Given the description of an element on the screen output the (x, y) to click on. 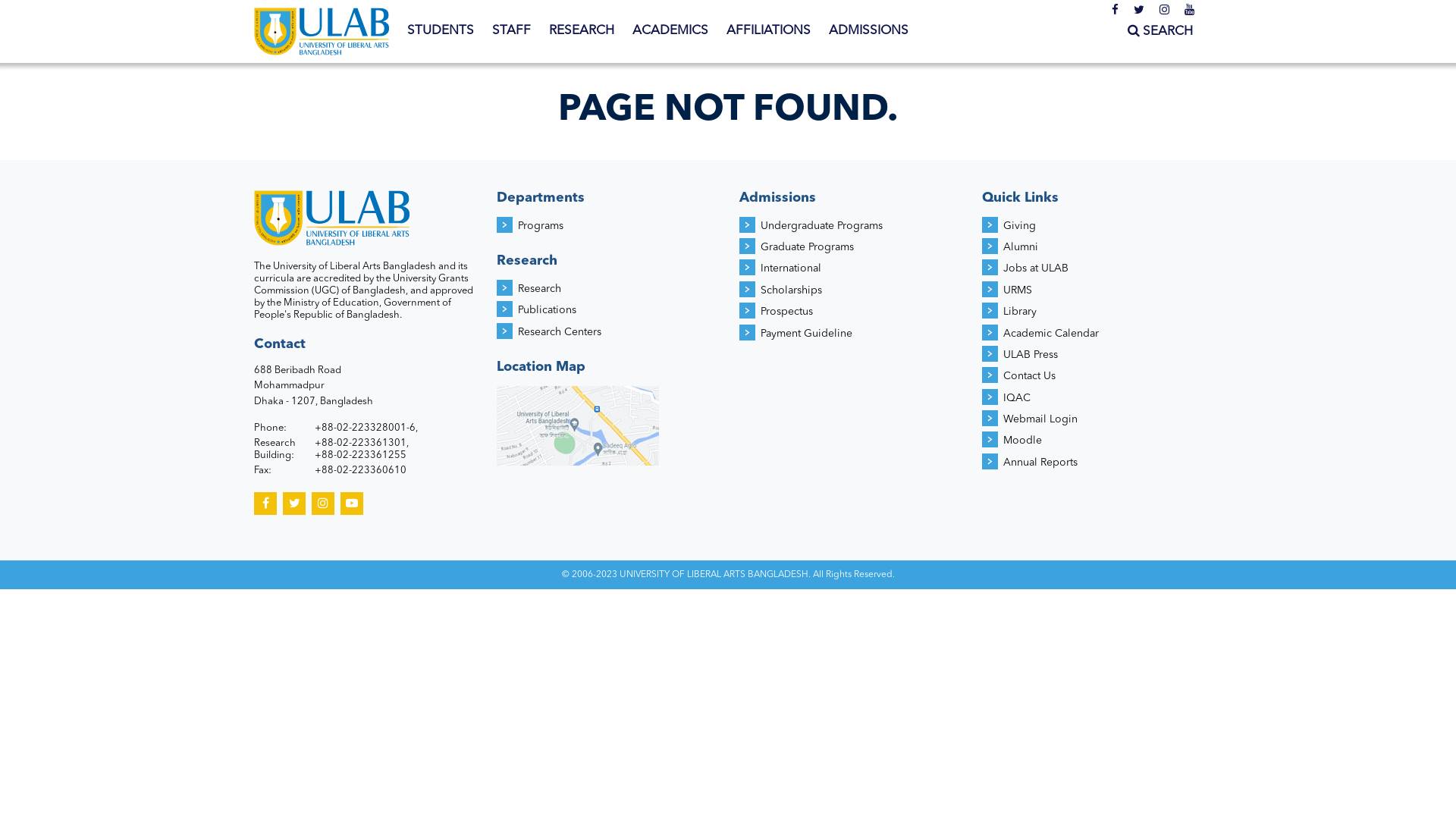
RESEARCH Element type: text (581, 30)
ULAB Press Element type: text (1030, 354)
Contact Us Element type: text (1029, 375)
Library Element type: text (1019, 311)
Payment Guideline Element type: text (806, 333)
Academic Calendar Element type: text (1050, 333)
Alumni Element type: text (1020, 246)
Publications Element type: text (546, 309)
Moodle Element type: text (1022, 440)
Scholarships Element type: text (791, 290)
IQAC Element type: text (1016, 397)
Giving Element type: text (1019, 225)
Programs Element type: text (540, 225)
Undergraduate Programs Element type: text (821, 225)
Skip to main content Element type: text (61, 0)
ACADEMICS Element type: text (670, 30)
SEARCH Element type: text (1159, 31)
Graduate Programs Element type: text (806, 246)
Jobs at ULAB Element type: text (1035, 268)
URMS Element type: text (1017, 290)
Prospectus Element type: text (786, 311)
AFFILIATIONS Element type: text (768, 30)
International Element type: text (790, 268)
Research Element type: text (539, 288)
Annual Reports Element type: text (1040, 462)
ADMISSIONS Element type: text (868, 30)
STUDENTS Element type: text (440, 30)
STAFF Element type: text (511, 30)
Research Centers Element type: text (559, 331)
Webmail Login Element type: text (1040, 419)
